Given the description of an element on the screen output the (x, y) to click on. 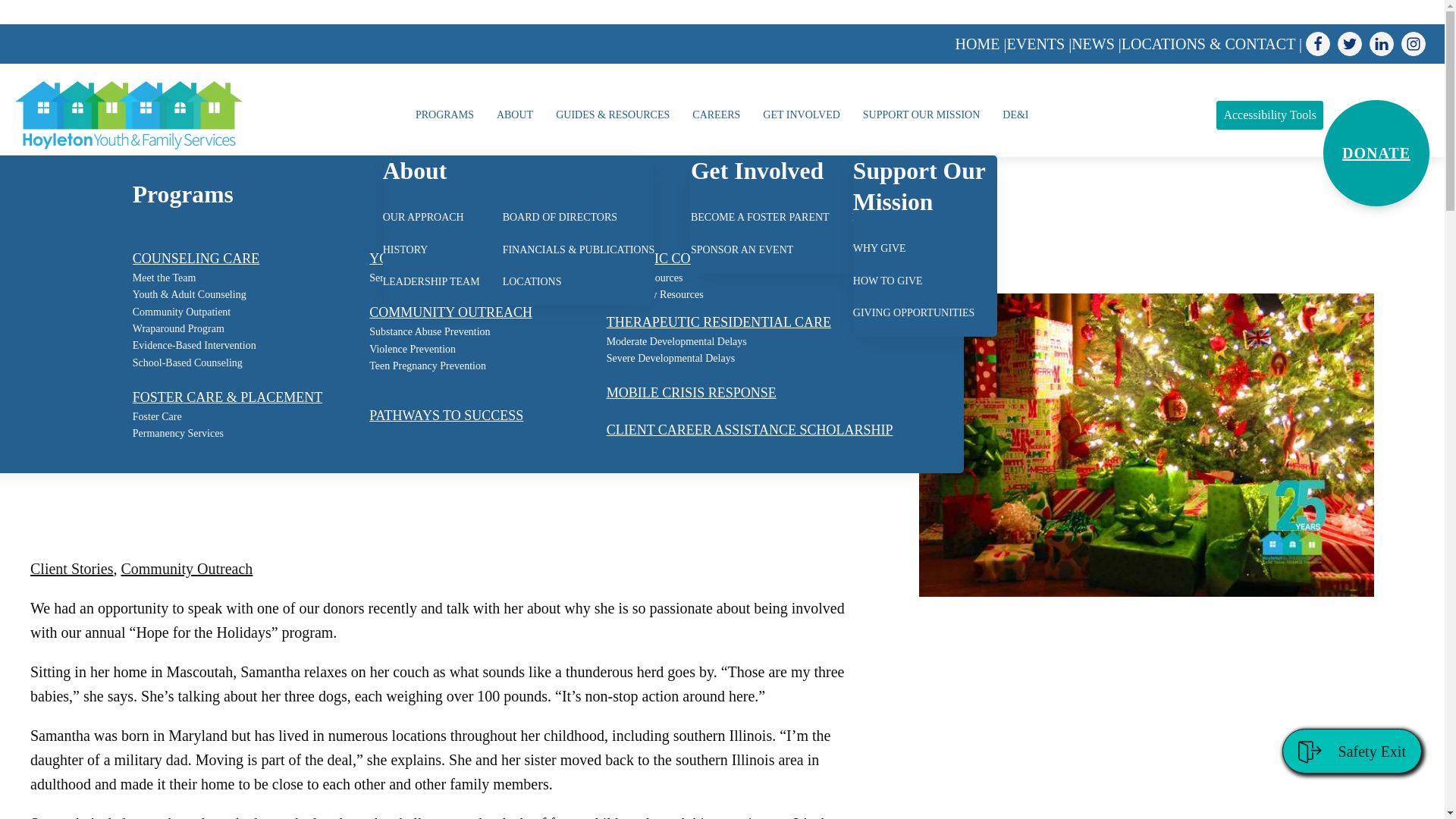
Violence Prevention (412, 349)
HISPANIC COMMUNITY SUPPORT (713, 259)
LEADERSHIP TEAM (431, 281)
YOUNG ADULT CARE (437, 259)
Permanency Services (178, 433)
Evidence-Based Intervention (194, 345)
Meet the Team (164, 278)
BOARD OF DIRECTORS (559, 217)
THERAPEUTIC RESIDENTIAL CARE (719, 322)
Community Outpatient (181, 312)
